Given the description of an element on the screen output the (x, y) to click on. 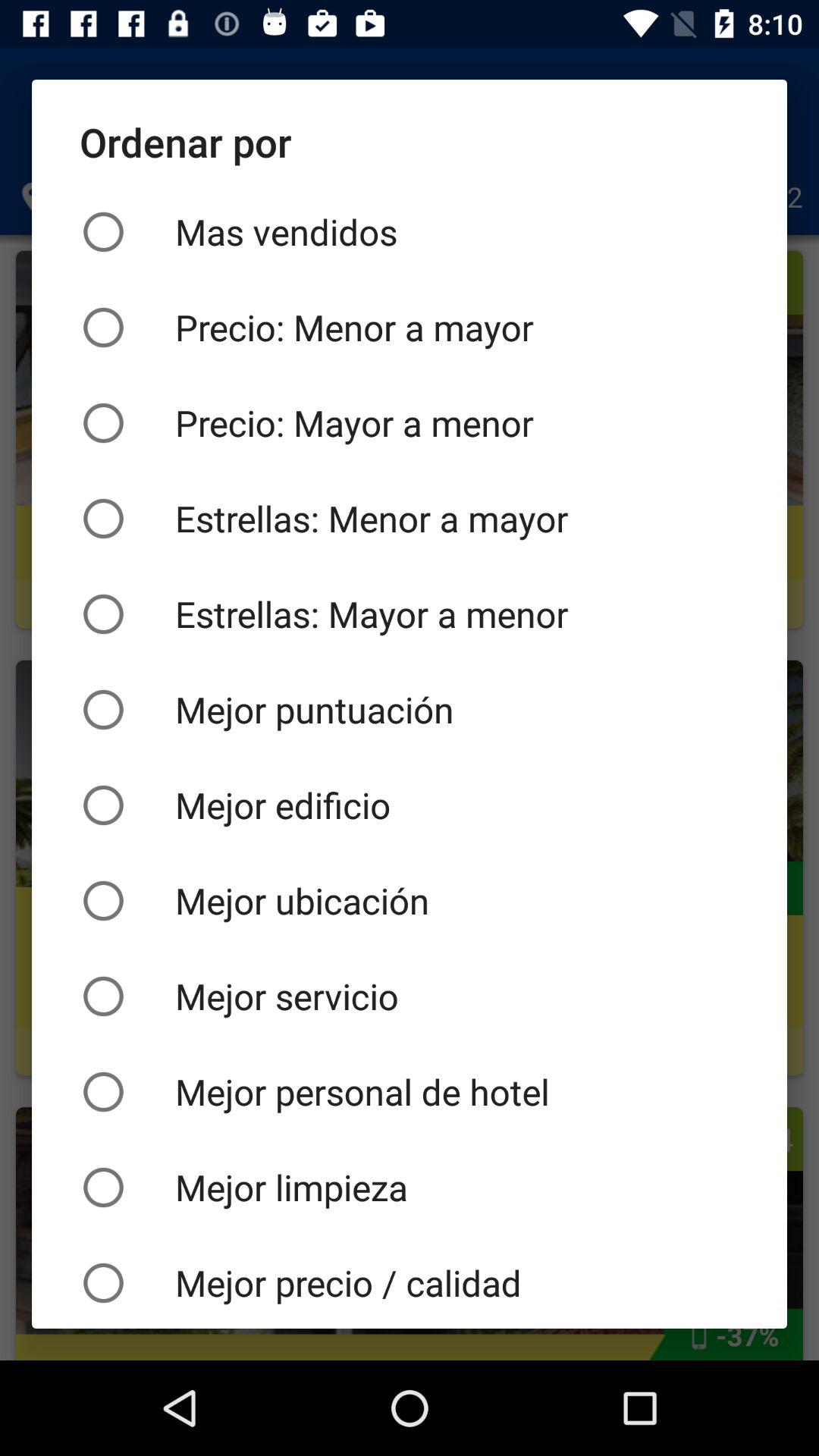
tap the mejor servicio (409, 996)
